Given the description of an element on the screen output the (x, y) to click on. 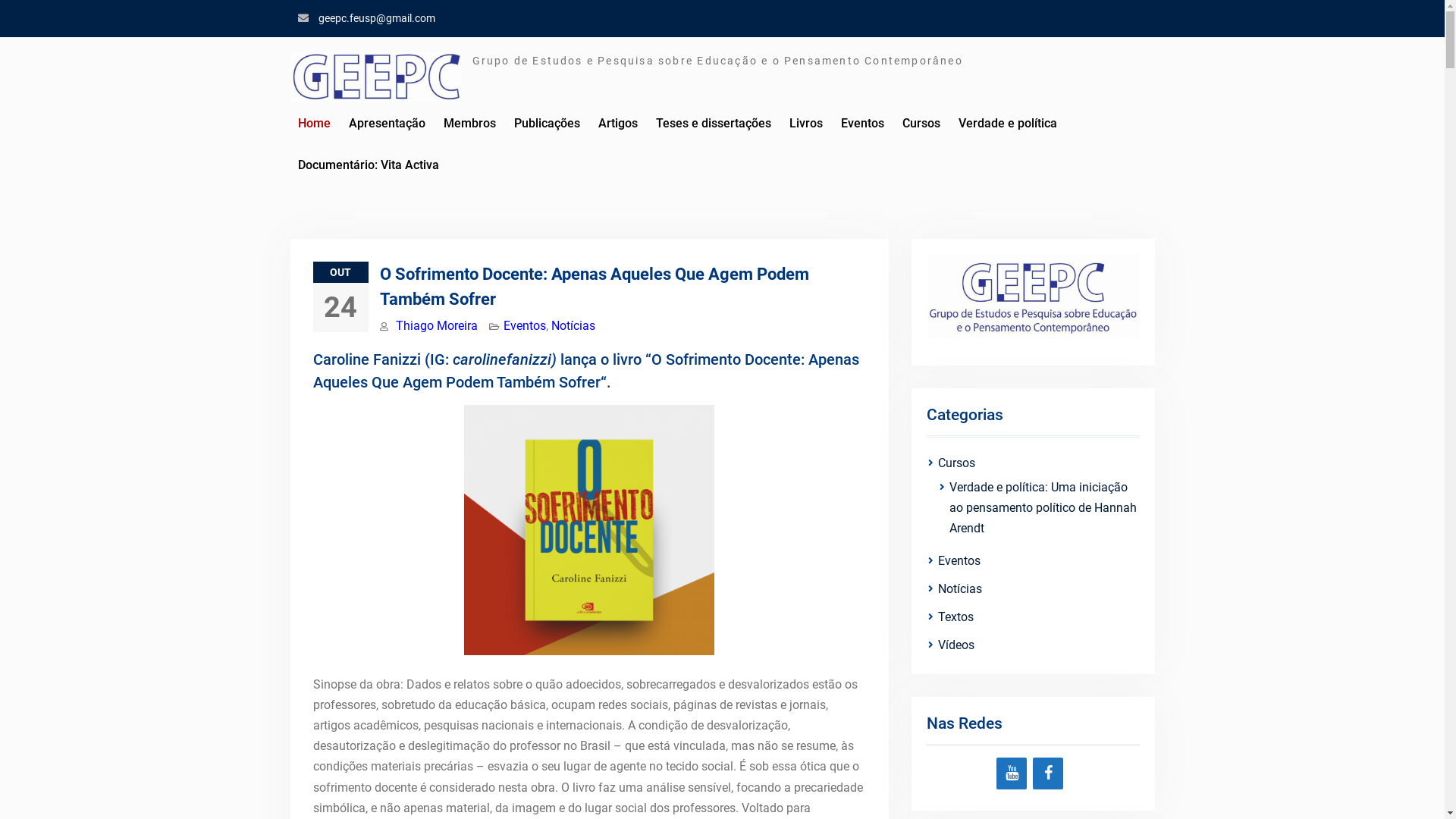
Thiago Moreira Element type: text (436, 325)
Eventos Element type: text (524, 325)
Cursos Element type: text (920, 123)
Cursos Element type: text (1022, 462)
Home Element type: text (313, 123)
Livros Element type: text (805, 123)
Artigos Element type: text (616, 123)
Eventos Element type: text (861, 123)
carolinefanizzi Element type: text (500, 359)
Textos Element type: text (1022, 616)
geepc.feusp@gmail.com Element type: text (376, 18)
Membros Element type: text (468, 123)
Eventos Element type: text (1022, 560)
